Given the description of an element on the screen output the (x, y) to click on. 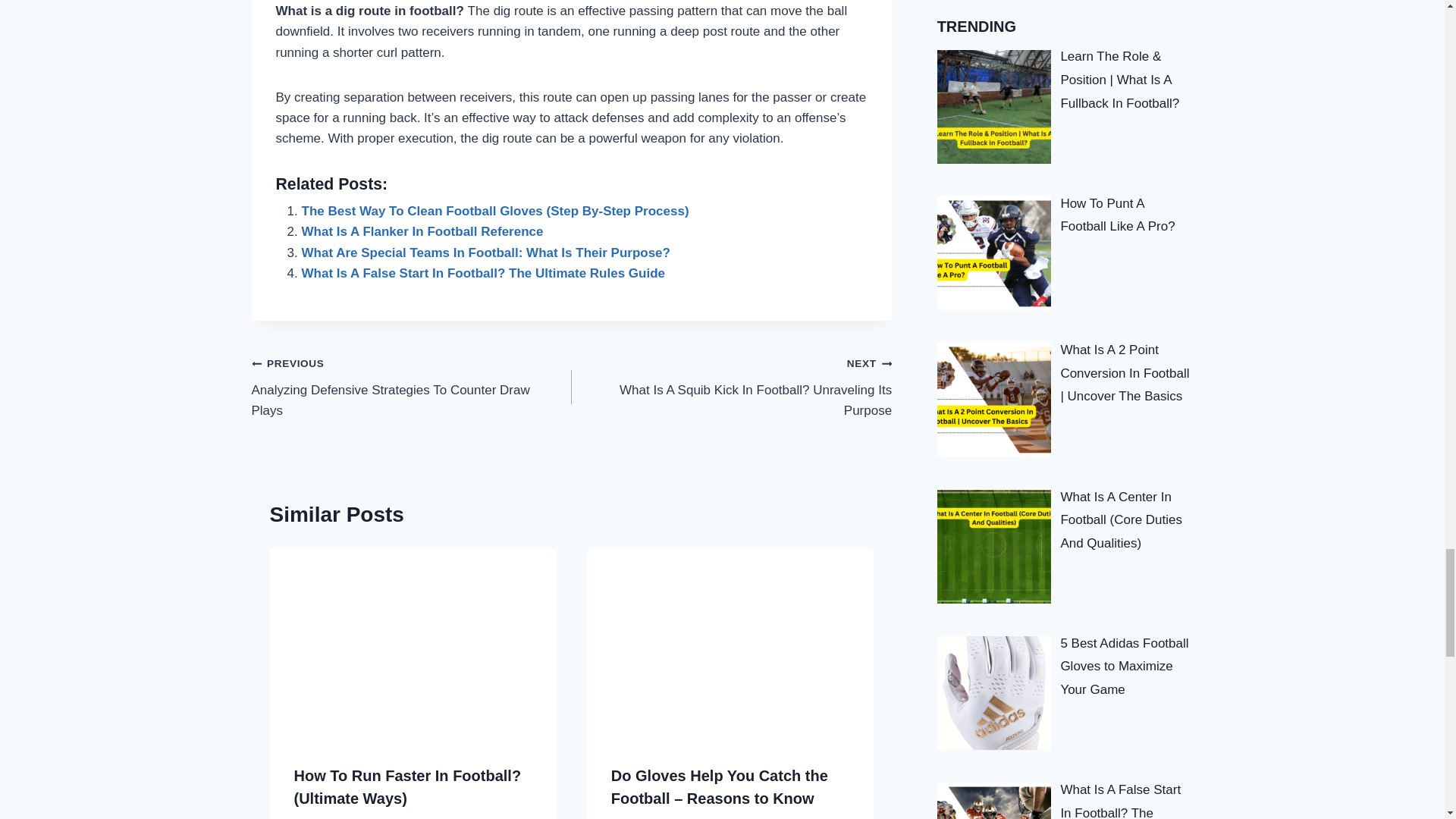
What Is A False Start In Football? The Ultimate Rules Guide (483, 273)
What Are Special Teams In Football: What Is Their Purpose? (485, 252)
What Is A Flanker In Football Reference (422, 231)
What Is A Flanker In Football Reference (422, 231)
What Are Special Teams In Football: What Is Their Purpose? (485, 252)
